Given the description of an element on the screen output the (x, y) to click on. 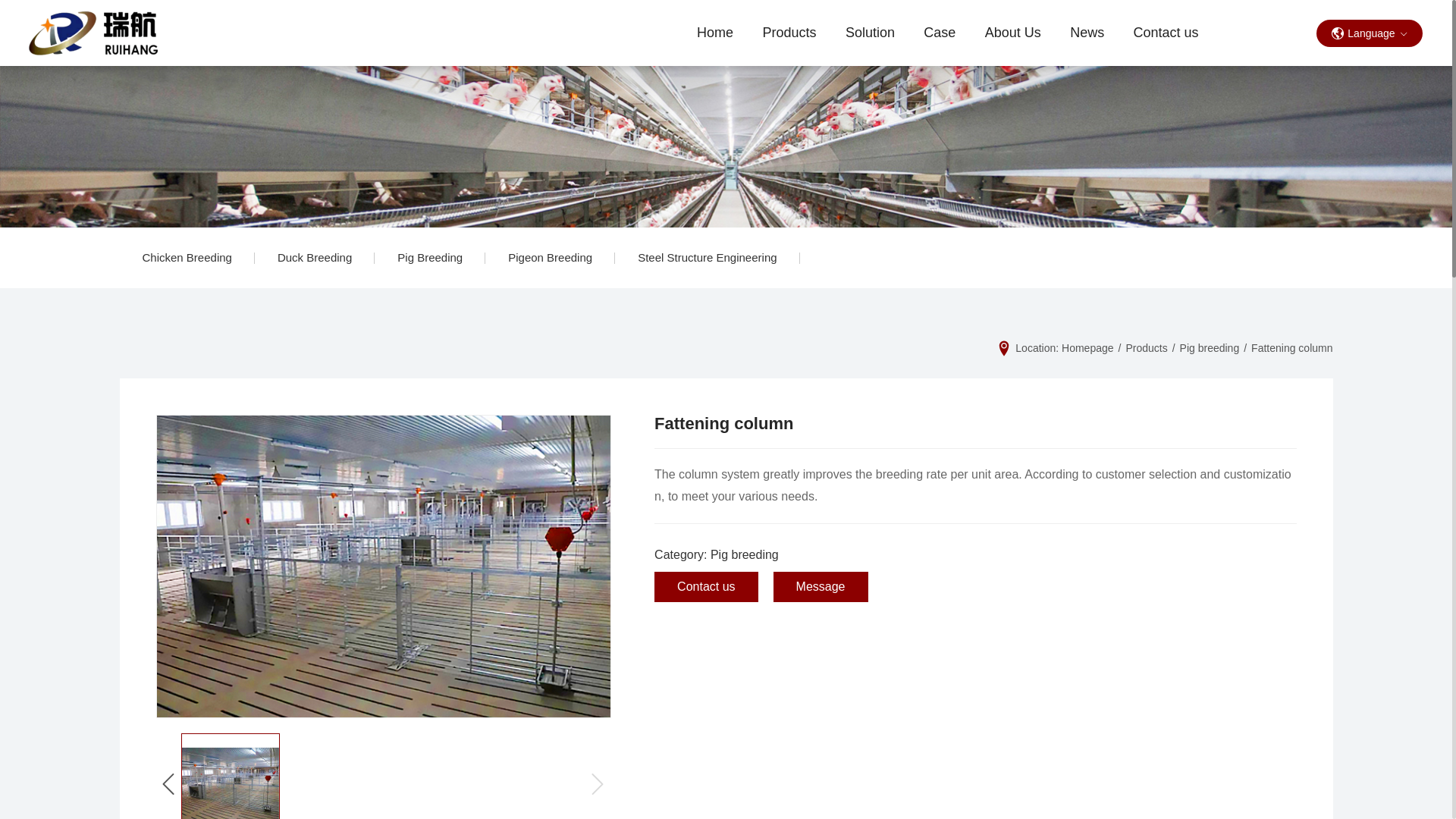
Pigeon Breeding (549, 257)
Homepage (1087, 347)
Pig breeding (429, 257)
Steel structure engineering (706, 257)
Case (939, 33)
Duck breeding (314, 257)
Steel Structure Engineering (706, 257)
Contact us (1165, 33)
Products (1146, 347)
Solution (869, 33)
Pig Breeding (429, 257)
Products (789, 33)
Home (715, 33)
Duck Breeding (314, 257)
Pigeon breeding (549, 257)
